Given the description of an element on the screen output the (x, y) to click on. 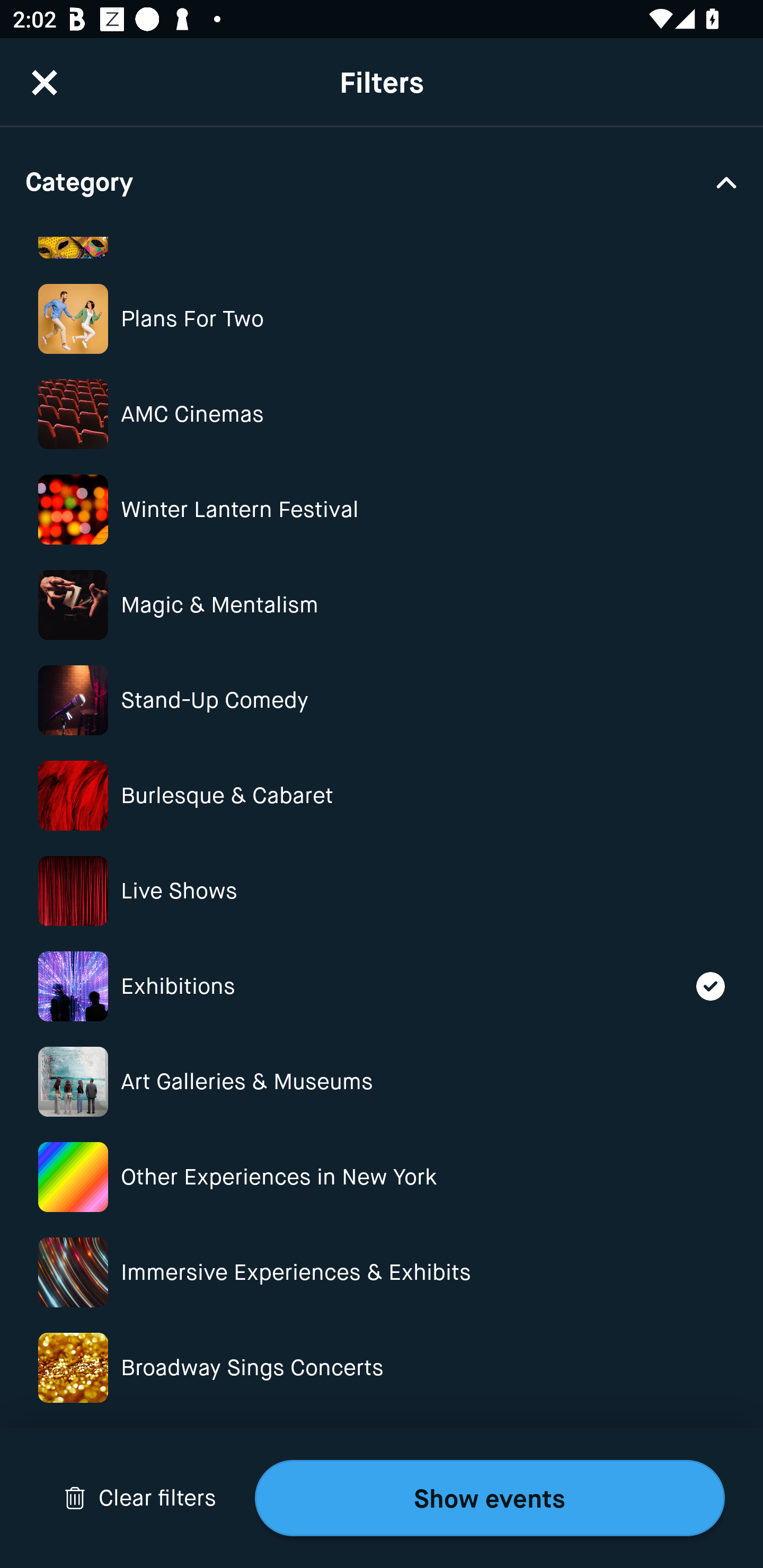
Category Drop Down Arrow (381, 181)
Category Image Plans For Two (381, 318)
Category Image AMC Cinemas (381, 414)
Category Image Winter Lantern Festival (381, 509)
Category Image Magic & Mentalism (381, 604)
Category Image Stand-Up Comedy (381, 699)
Category Image Burlesque & Cabaret (381, 795)
Category Image Live Shows (381, 890)
Category Image Exhibitions Selected Icon (381, 985)
Category Image Art Galleries & Museums (381, 1081)
Category Image Other Experiences in New York (381, 1176)
Category Image Immersive Experiences & Exhibits (381, 1272)
Category Image Broadway Sings Concerts (381, 1367)
Drop Down Arrow Clear filters (139, 1497)
Show events (489, 1497)
